Given the description of an element on the screen output the (x, y) to click on. 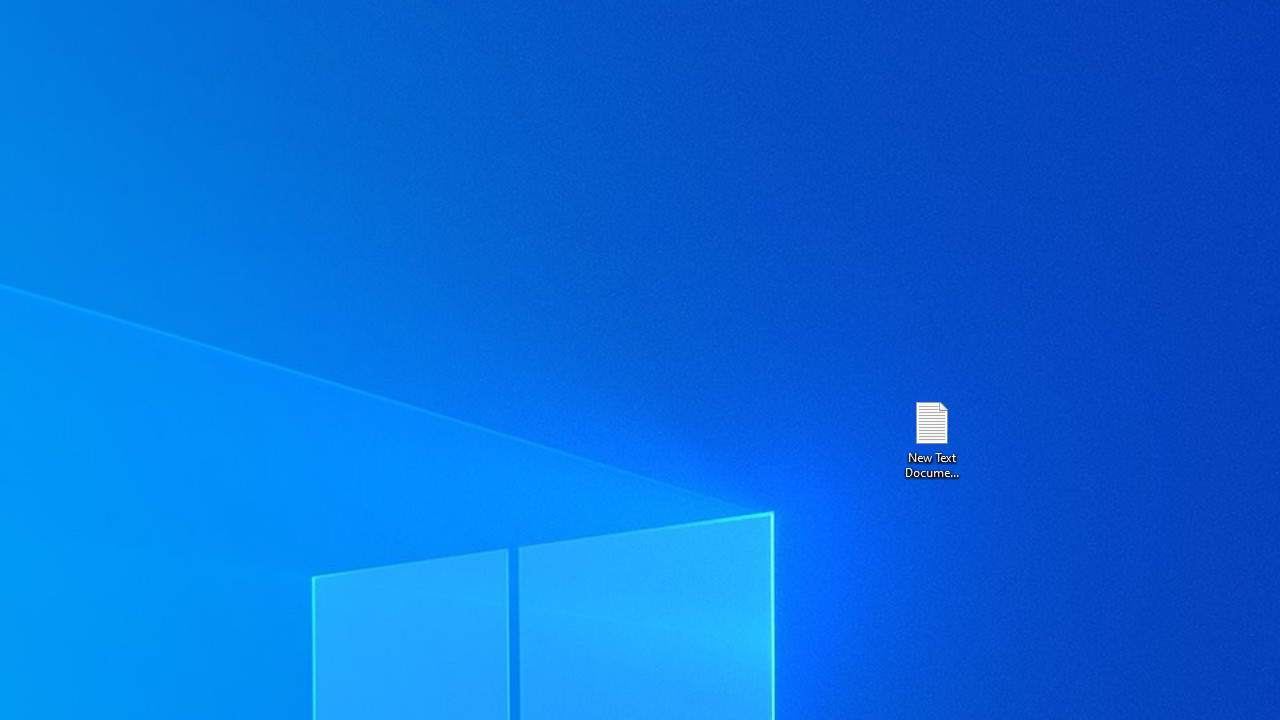
New Text Document (2) (931, 438)
